Given the description of an element on the screen output the (x, y) to click on. 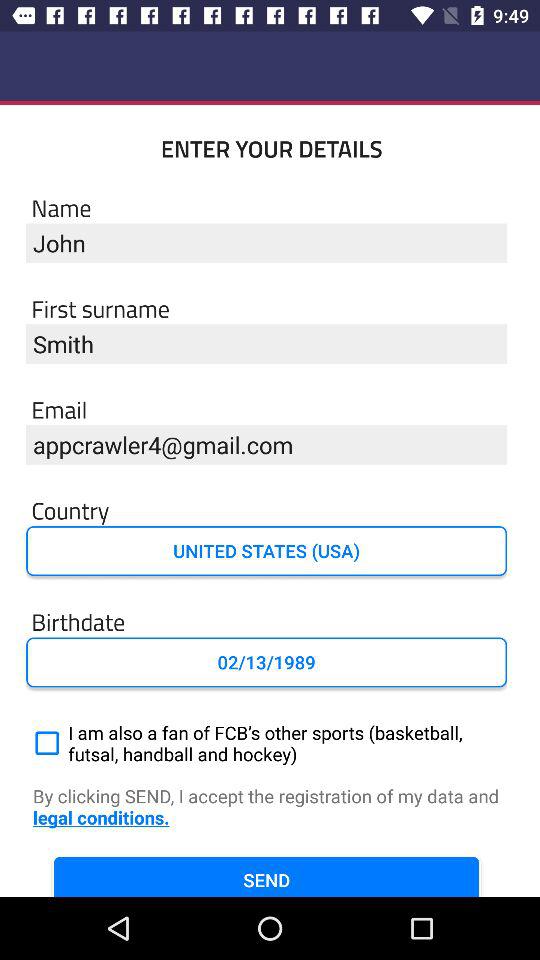
open icon below the country (266, 551)
